Given the description of an element on the screen output the (x, y) to click on. 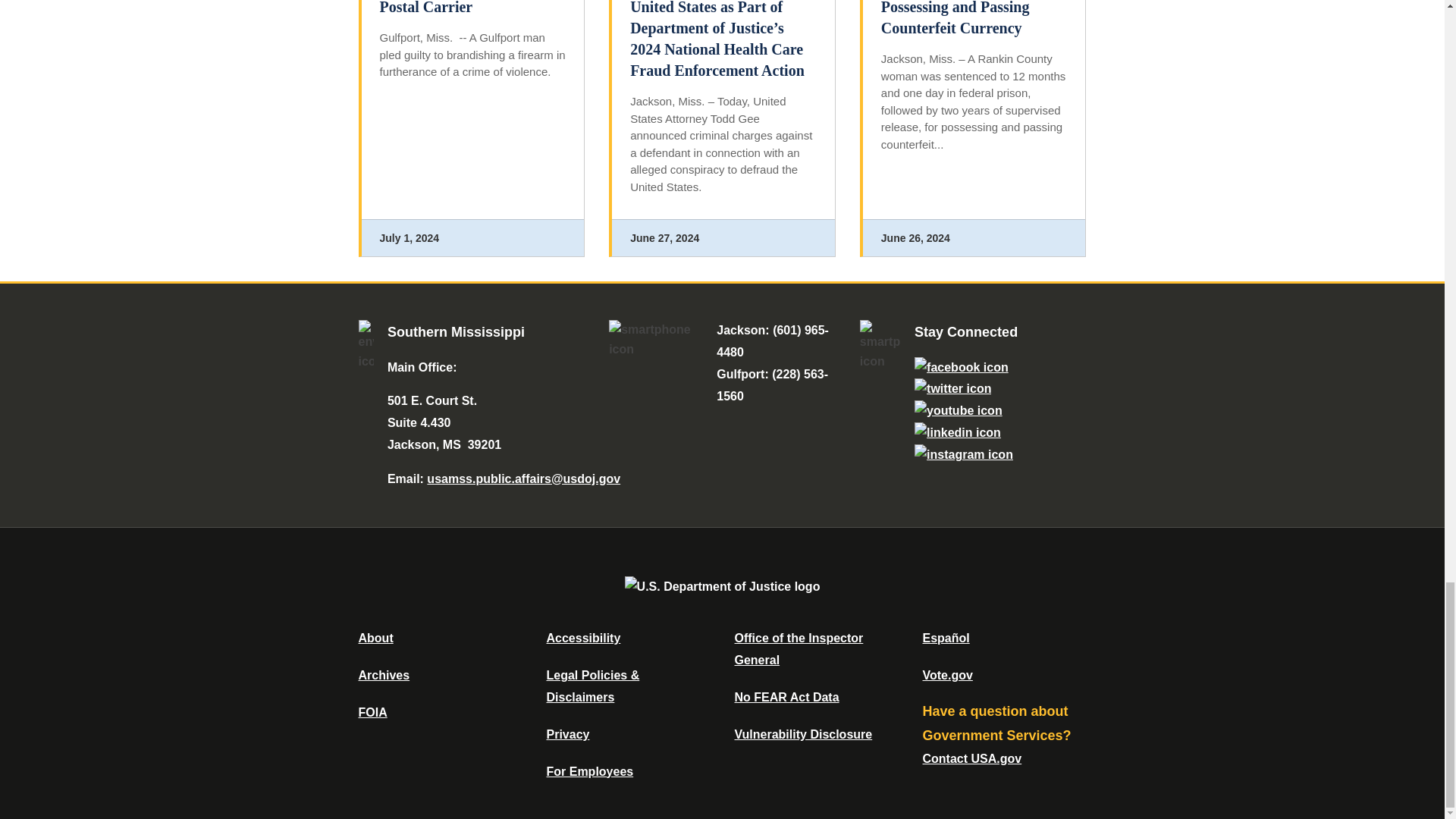
For Employees (589, 771)
Accessibility Statement (583, 637)
About DOJ (375, 637)
Legal Policies and Disclaimers (592, 686)
Department of Justice Archive (383, 675)
Data Posted Pursuant To The No Fear Act (785, 697)
Office of Information Policy (372, 712)
